Given the description of an element on the screen output the (x, y) to click on. 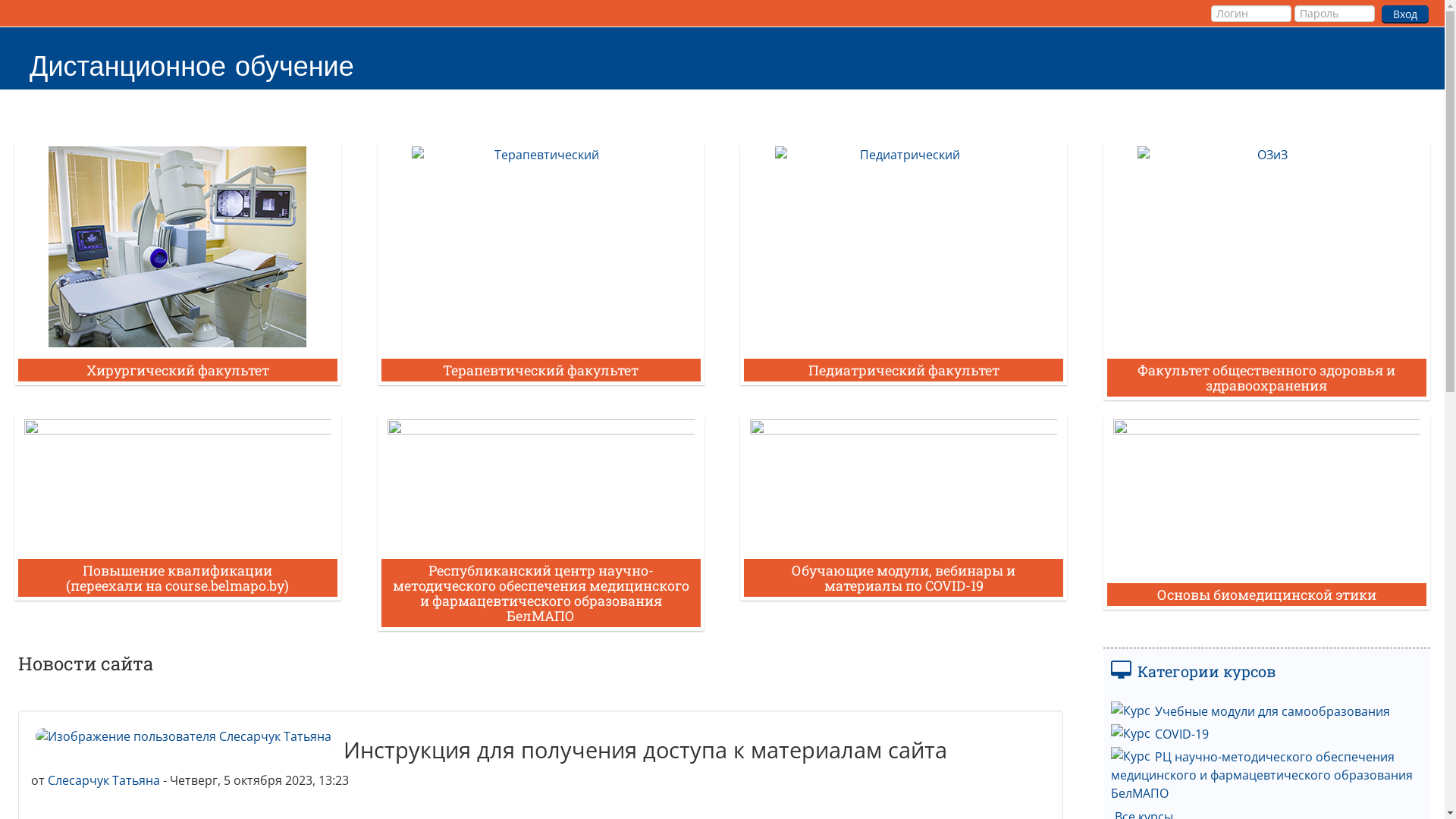
COVID-19 Element type: text (1159, 733)
